Given the description of an element on the screen output the (x, y) to click on. 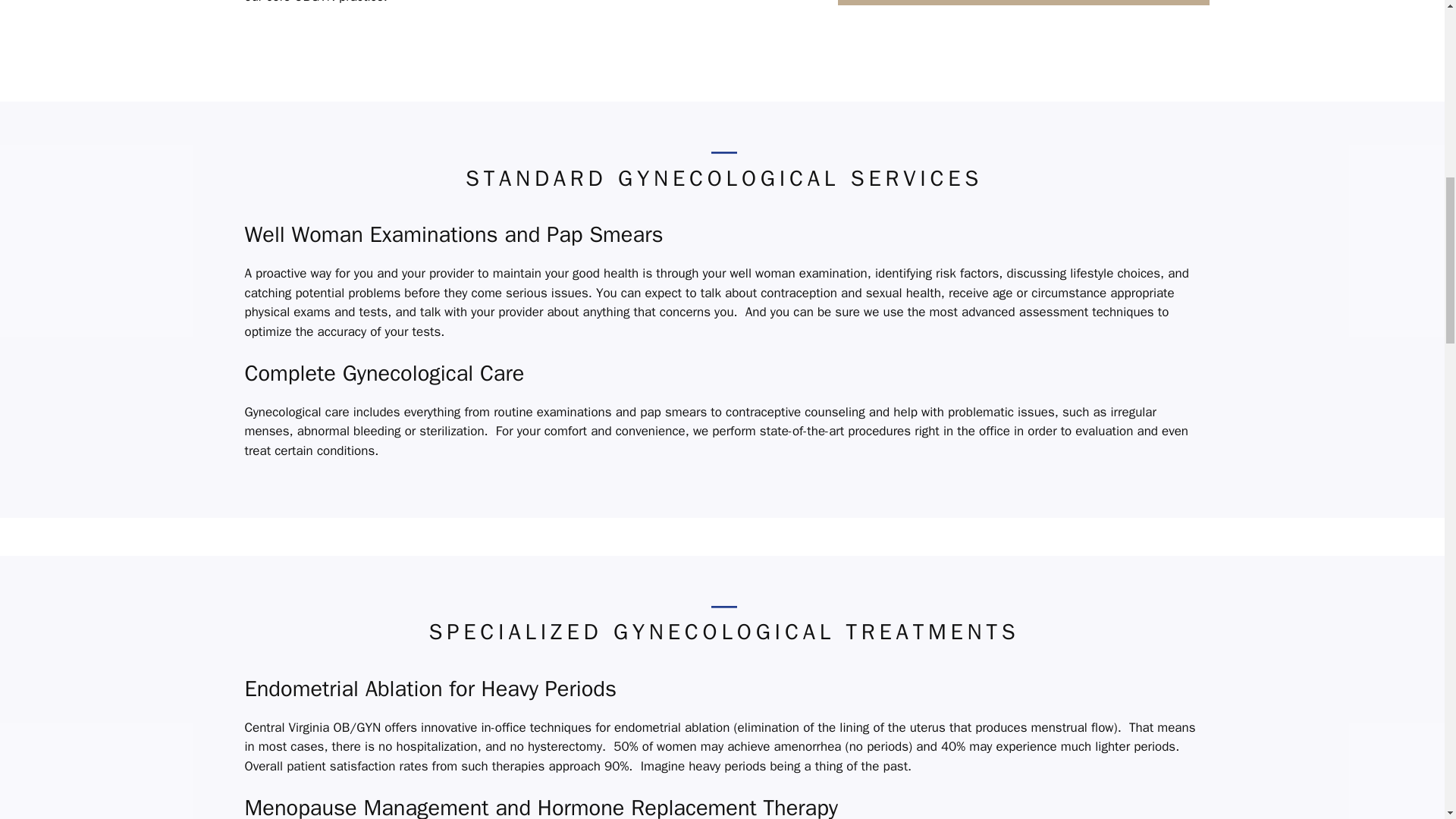
Scroll back to top (1406, 720)
